Given the description of an element on the screen output the (x, y) to click on. 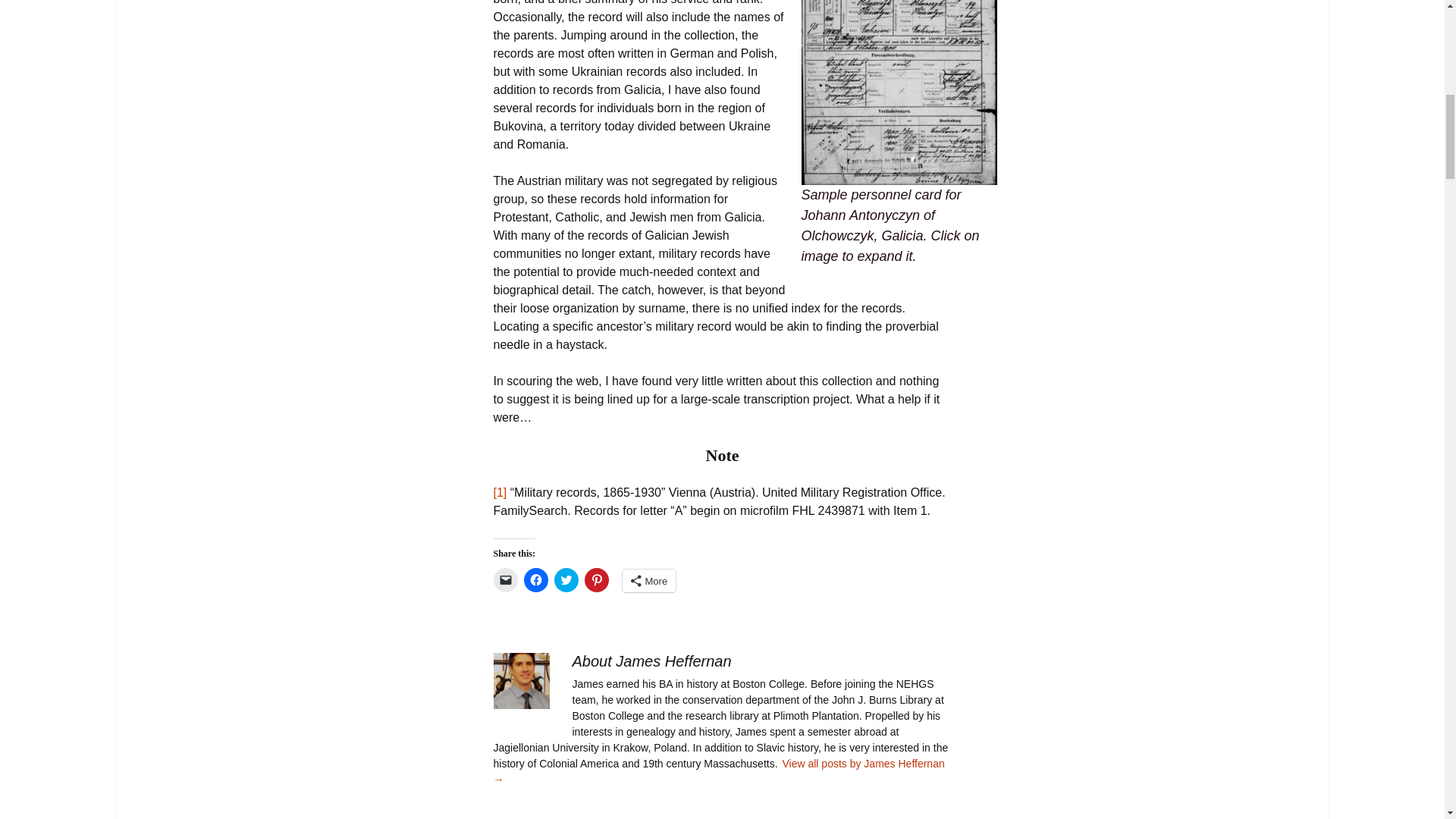
Click to share on Twitter (565, 580)
Click to share on Facebook (534, 580)
Click to email a link to a friend (504, 580)
Click to share on Pinterest (595, 580)
